Given the description of an element on the screen output the (x, y) to click on. 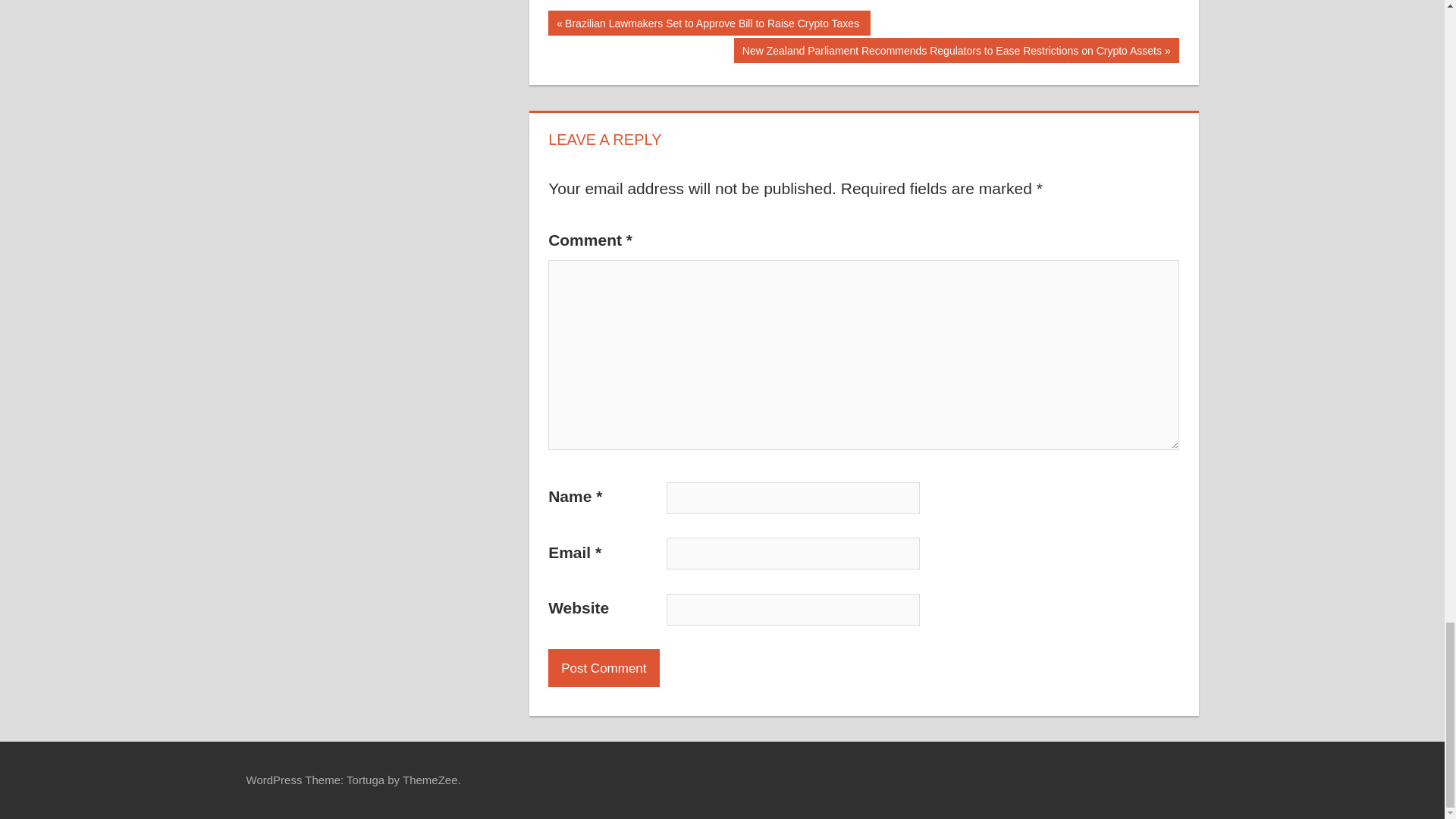
Post Comment (603, 668)
